Given the description of an element on the screen output the (x, y) to click on. 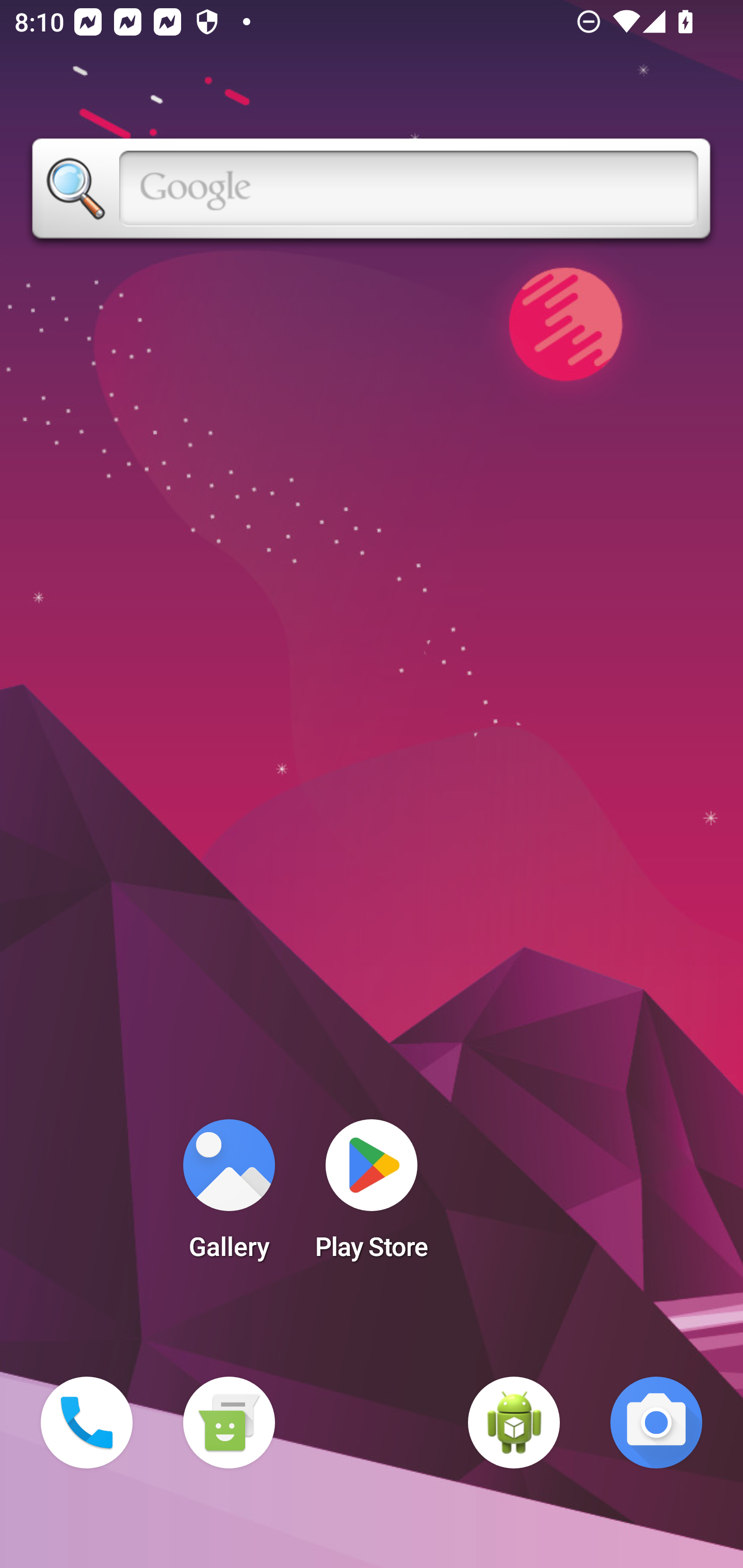
Gallery (228, 1195)
Play Store (371, 1195)
Phone (86, 1422)
Messaging (228, 1422)
WebView Browser Tester (513, 1422)
Camera (656, 1422)
